Given the description of an element on the screen output the (x, y) to click on. 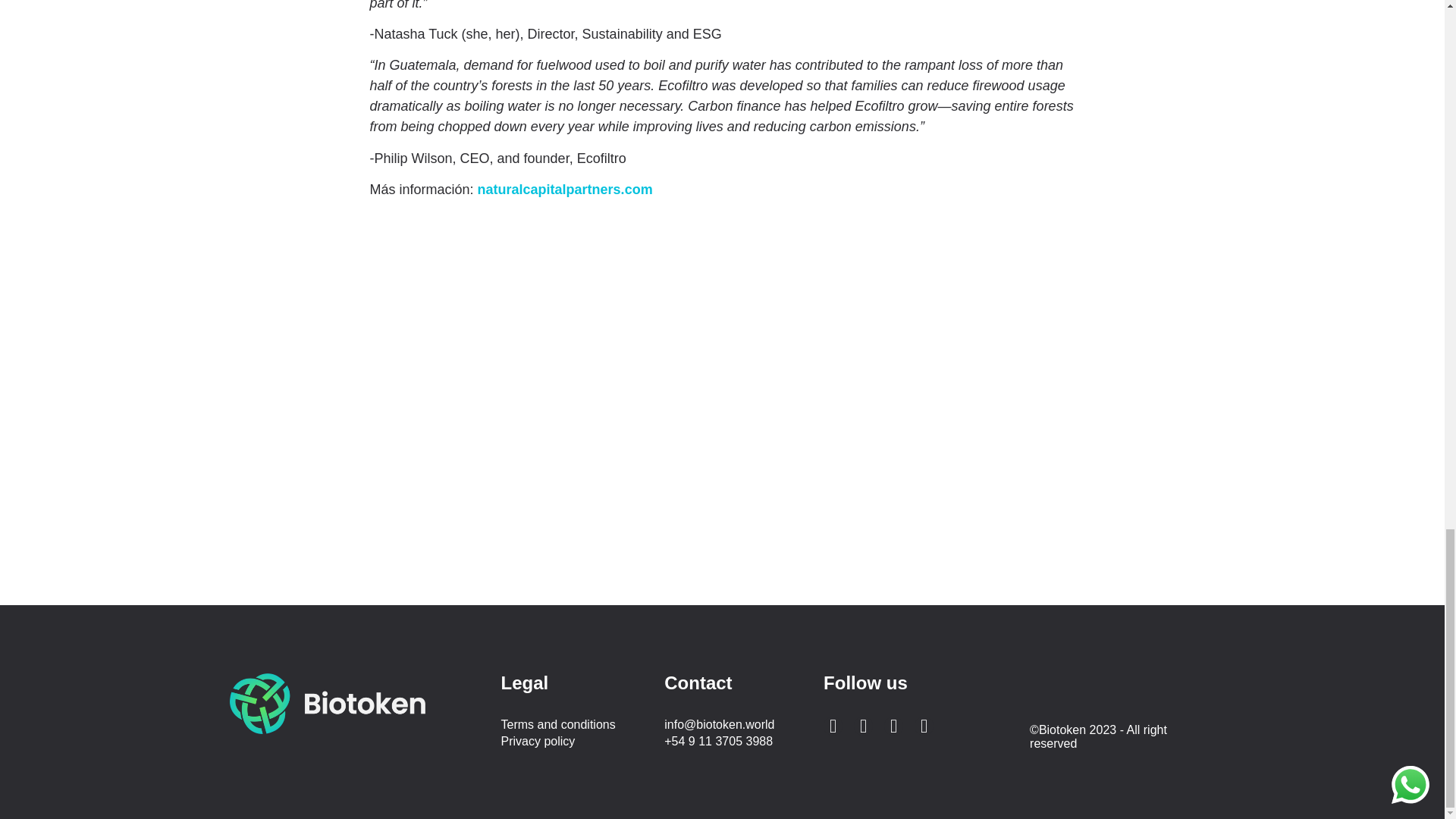
naturalcapitalpartners.com (564, 189)
Privacy policy (574, 741)
Terms and conditions (574, 724)
